Given the description of an element on the screen output the (x, y) to click on. 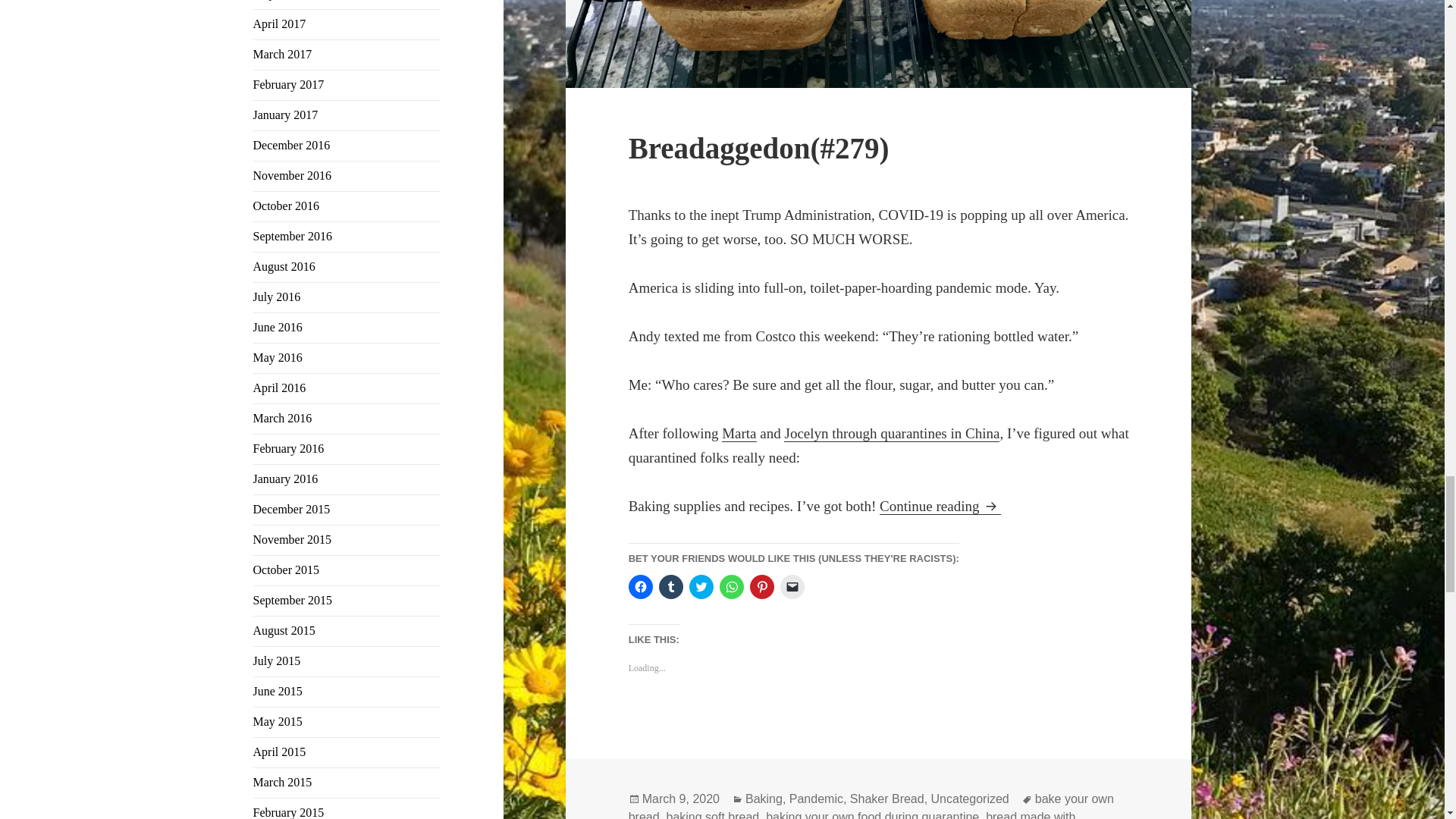
Click to share on Tumblr (670, 586)
Click to share on Twitter (700, 586)
Click to share on WhatsApp (731, 586)
Click to share on Facebook (640, 586)
